Given the description of an element on the screen output the (x, y) to click on. 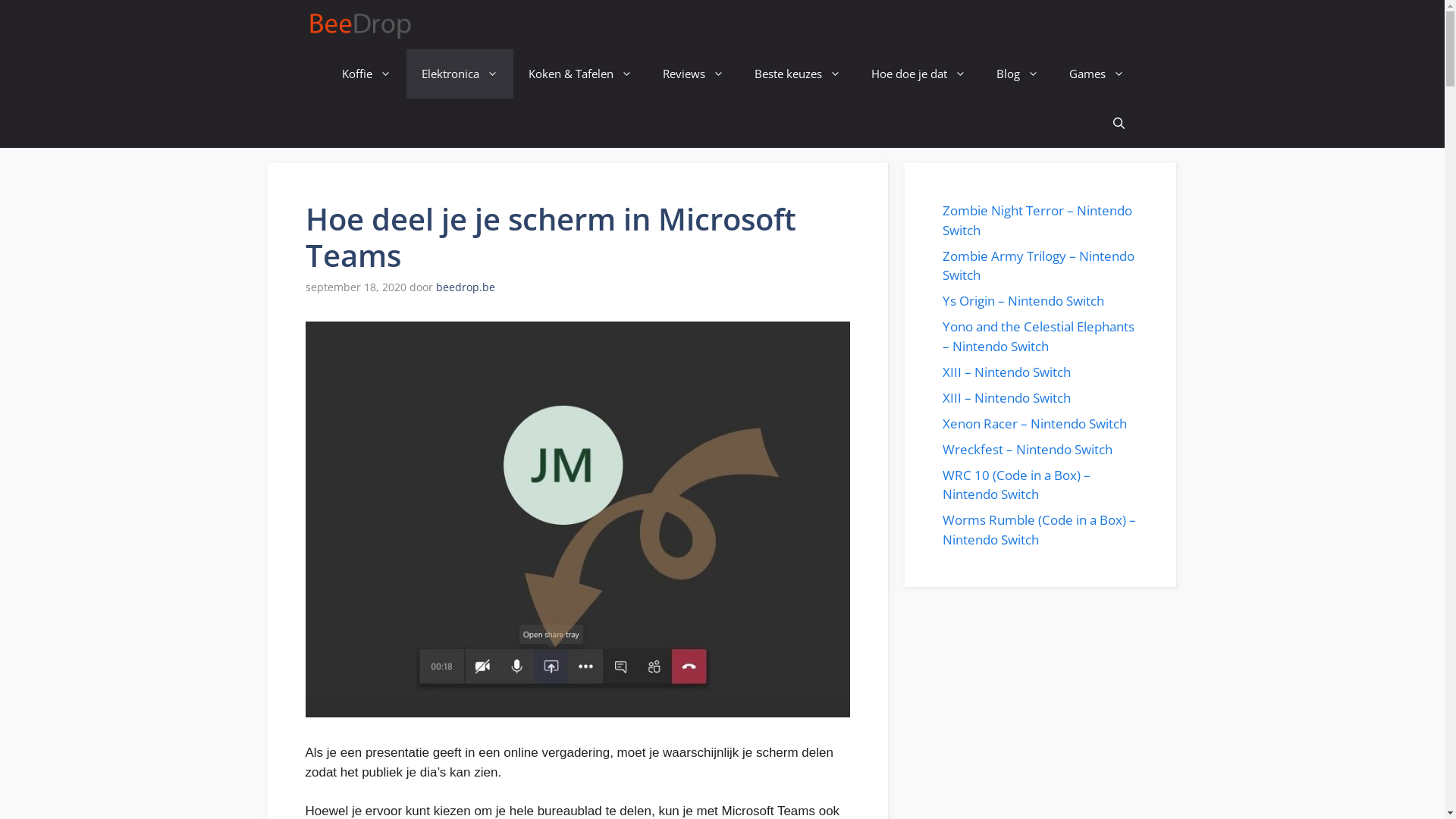
Elektronica Element type: text (459, 73)
Hoe doe je dat Element type: text (917, 73)
Reviews Element type: text (693, 73)
Beste keuzes Element type: text (796, 73)
beedrop.be Element type: text (464, 286)
beedrop Element type: hover (361, 24)
Koffie Element type: text (365, 73)
Koken & Tafelen Element type: text (579, 73)
Games Element type: text (1096, 73)
Blog Element type: text (1017, 73)
